Given the description of an element on the screen output the (x, y) to click on. 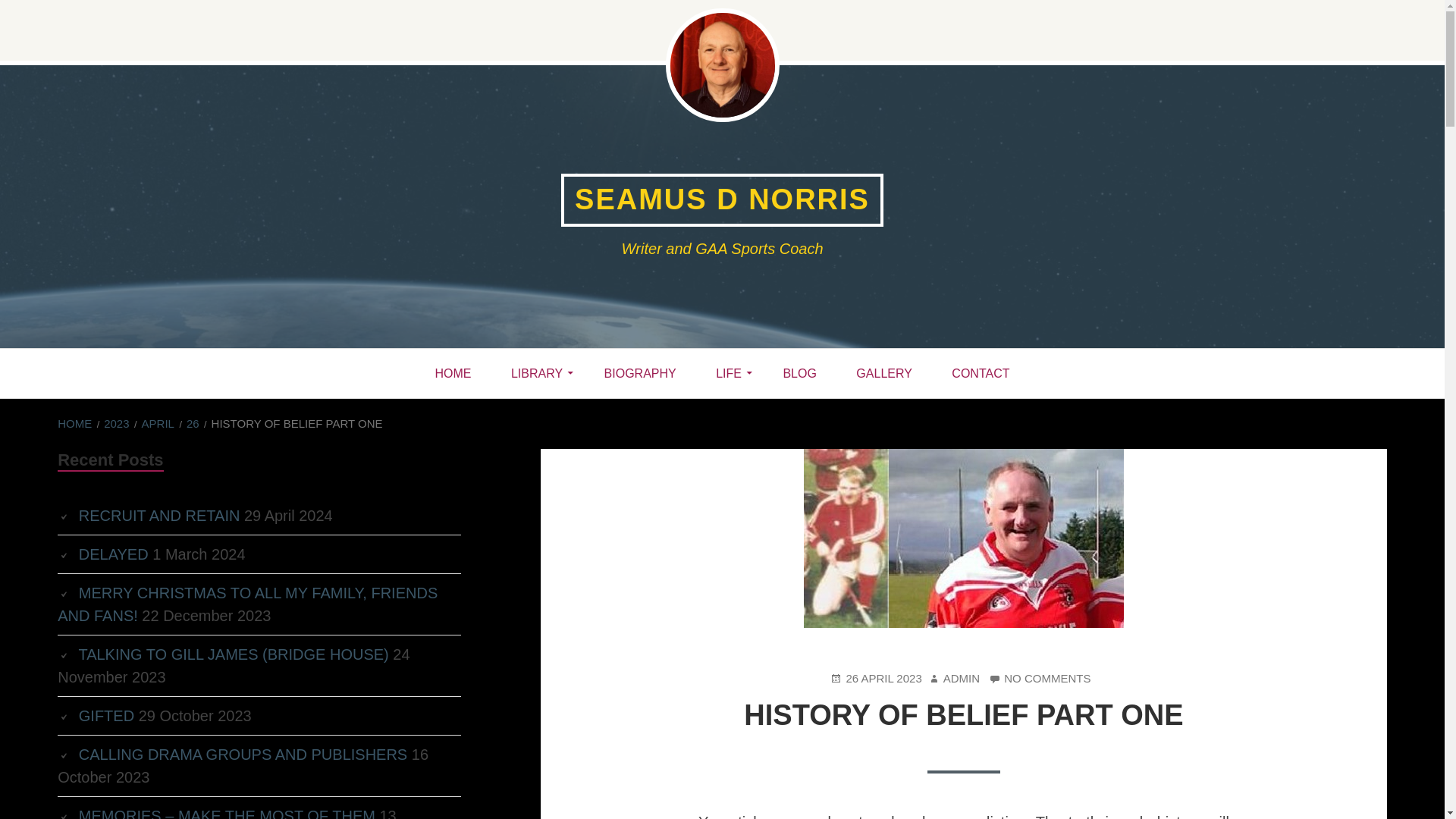
SEAMUS D NORRIS (721, 199)
RECRUIT AND RETAIN (159, 515)
CONTACT (980, 373)
BIOGRAPHY (640, 373)
APRIL (1039, 678)
26 APRIL 2023 (157, 422)
DELAYED (875, 678)
LIBRARY (113, 554)
LIFE (537, 373)
